Given the description of an element on the screen output the (x, y) to click on. 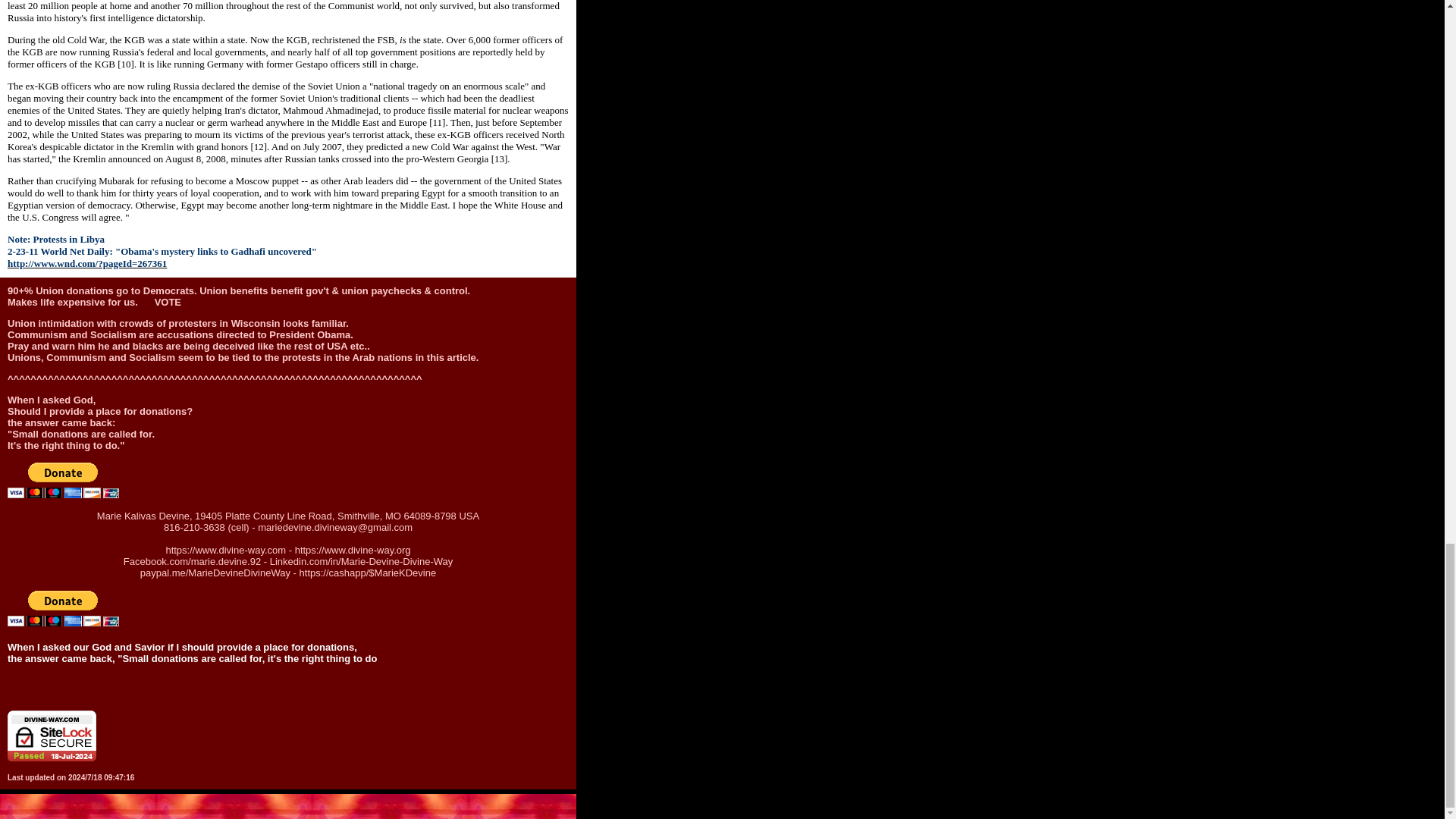
SiteLock (51, 735)
